Given the description of an element on the screen output the (x, y) to click on. 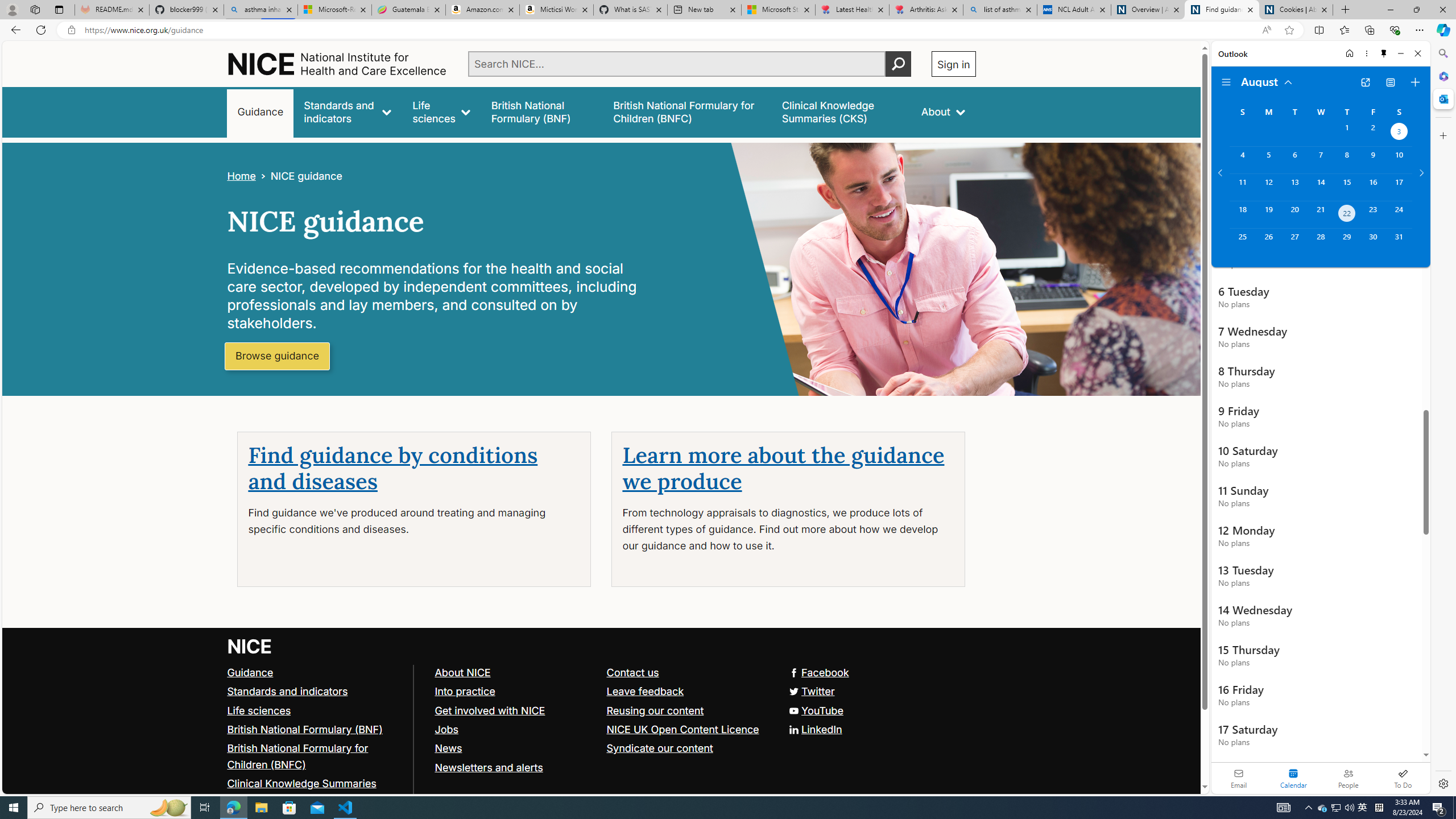
Thursday, August 1, 2024.  (1346, 132)
Monday, August 5, 2024.  (1268, 159)
Sunday, August 11, 2024.  (1242, 186)
Saturday, August 10, 2024.  (1399, 159)
Email (1238, 777)
asthma inhaler - Search (260, 9)
Twitter (601, 691)
Syndicate our content (686, 747)
Sunday, August 25, 2024.  (1242, 241)
Leave feedback (686, 691)
